Given the description of an element on the screen output the (x, y) to click on. 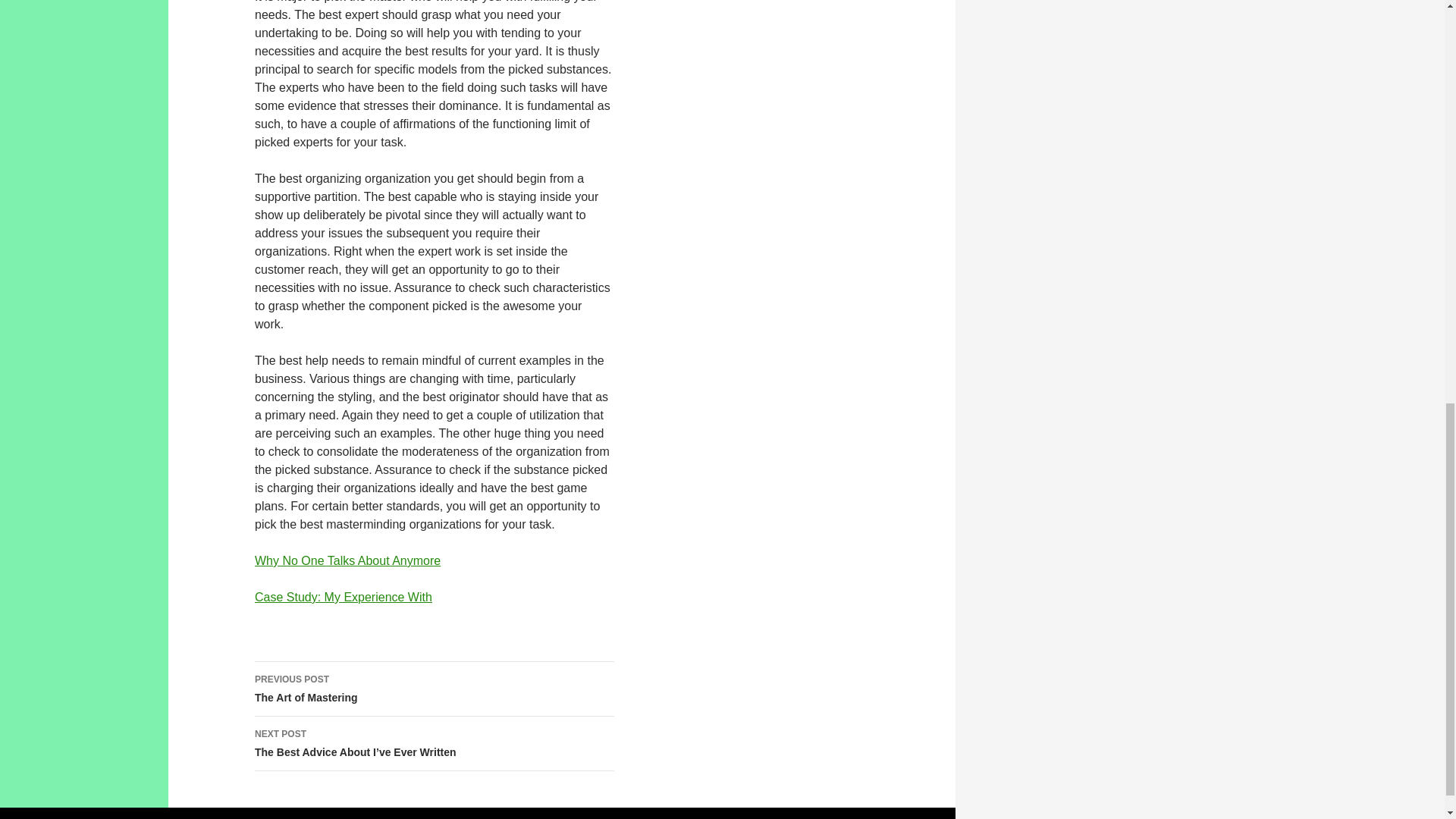
Why No One Talks About Anymore (434, 688)
Case Study: My Experience With (347, 560)
